Given the description of an element on the screen output the (x, y) to click on. 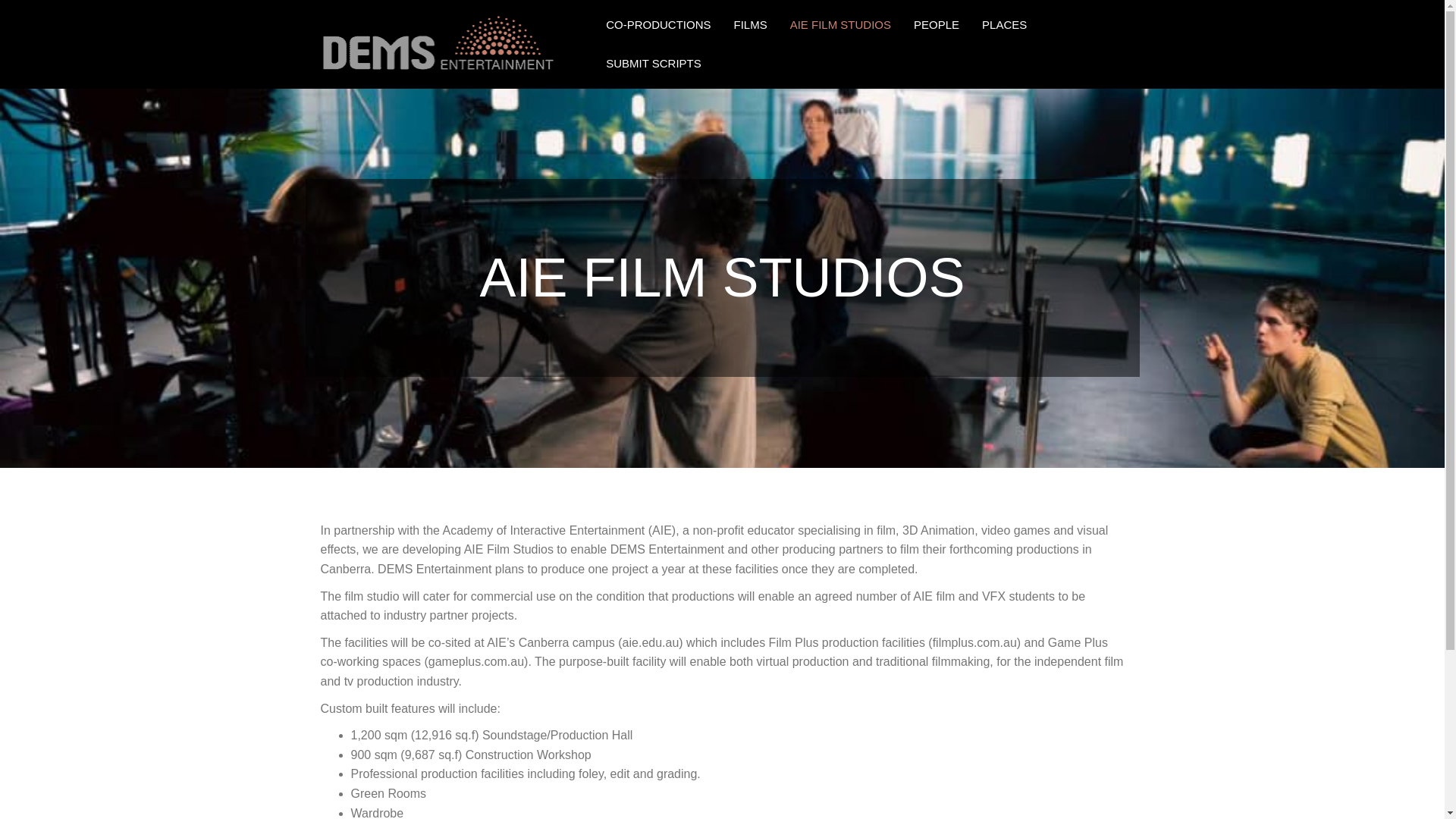
PLACES (1004, 24)
AIE FILM STUDIOS (840, 24)
FILMS (749, 24)
PEOPLE (936, 24)
CO-PRODUCTIONS (658, 24)
SUBMIT SCRIPTS (653, 63)
